Given the description of an element on the screen output the (x, y) to click on. 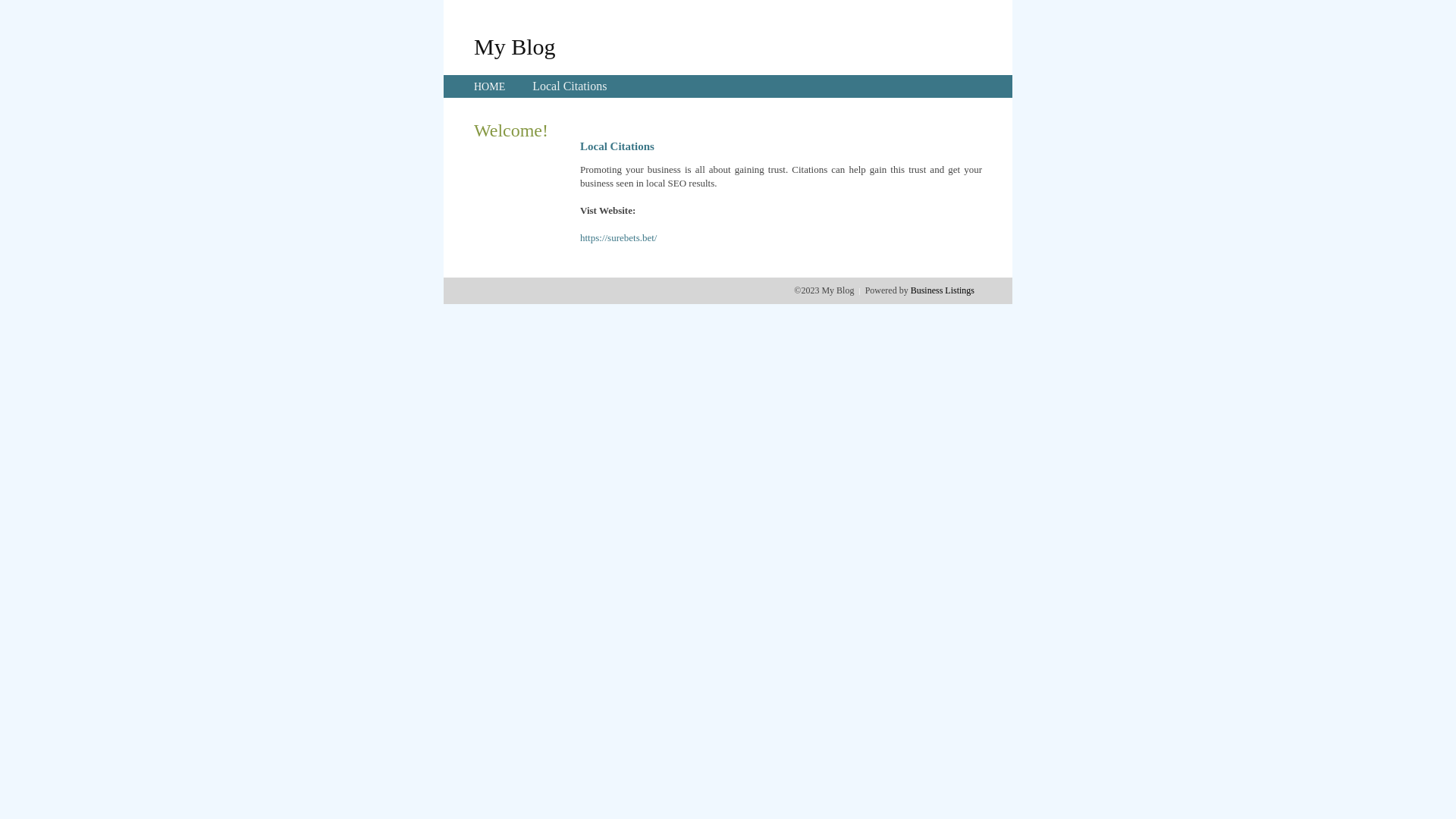
My Blog Element type: text (514, 46)
https://surebets.bet/ Element type: text (618, 237)
Local Citations Element type: text (569, 85)
HOME Element type: text (489, 86)
Business Listings Element type: text (942, 290)
